Given the description of an element on the screen output the (x, y) to click on. 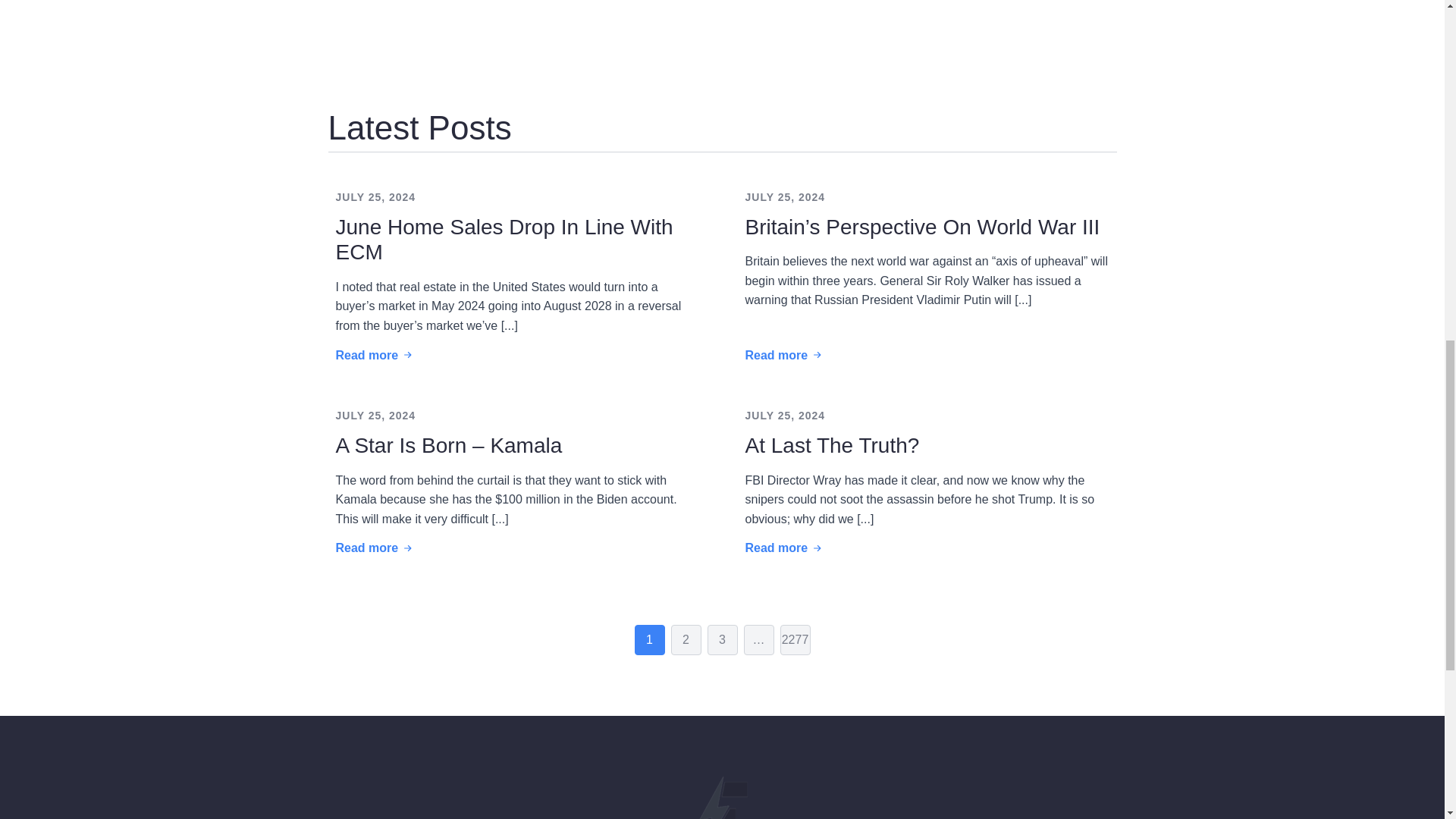
Read more (374, 355)
2 (684, 639)
3 (721, 639)
Read more (784, 355)
At Last The Truth? (831, 445)
Read more (374, 548)
June Home Sales Drop In Line With ECM (516, 239)
1 (648, 639)
Read more (784, 548)
2277 (793, 639)
